Given the description of an element on the screen output the (x, y) to click on. 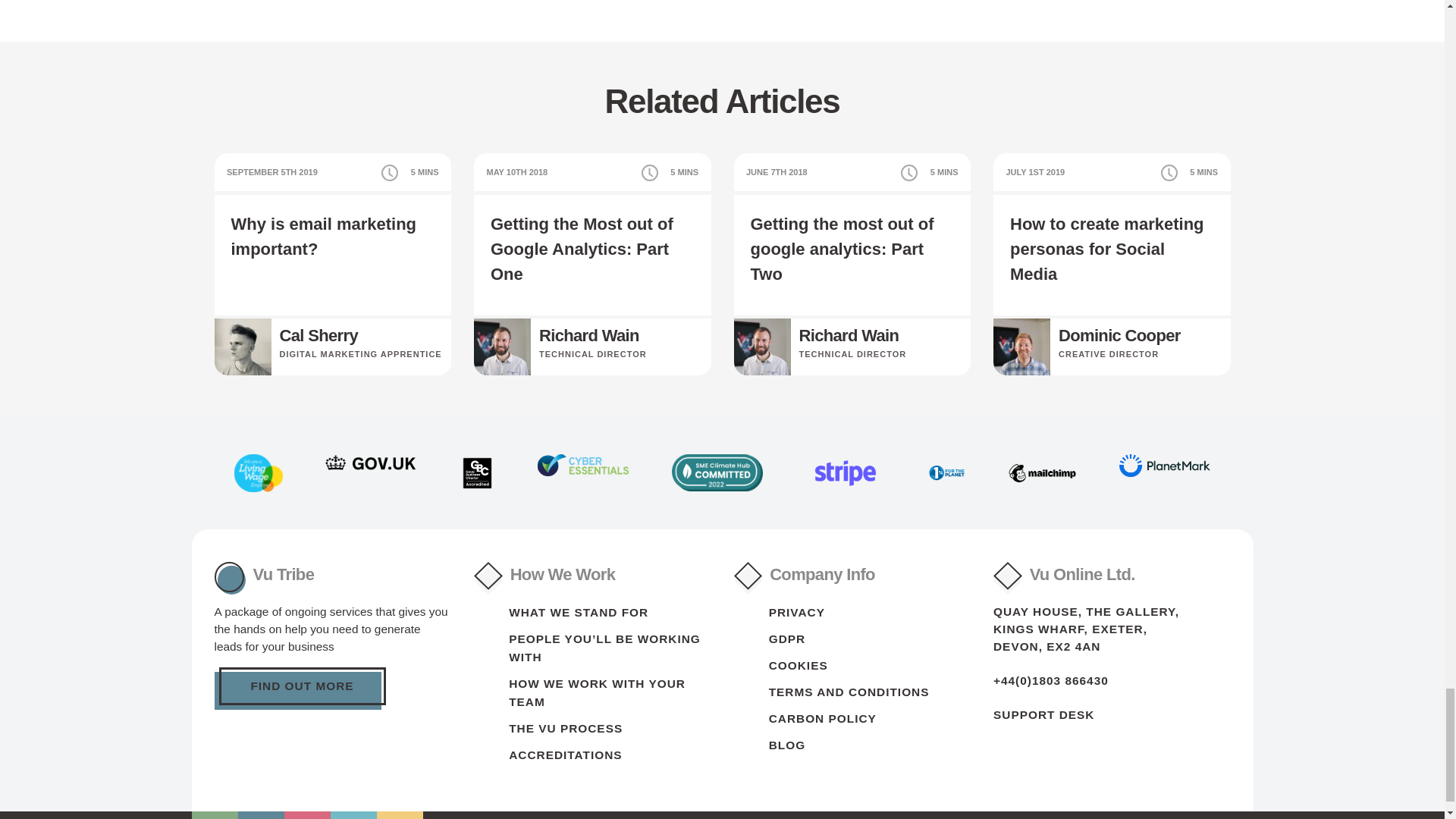
The Vu Blog (786, 744)
